Given the description of an element on the screen output the (x, y) to click on. 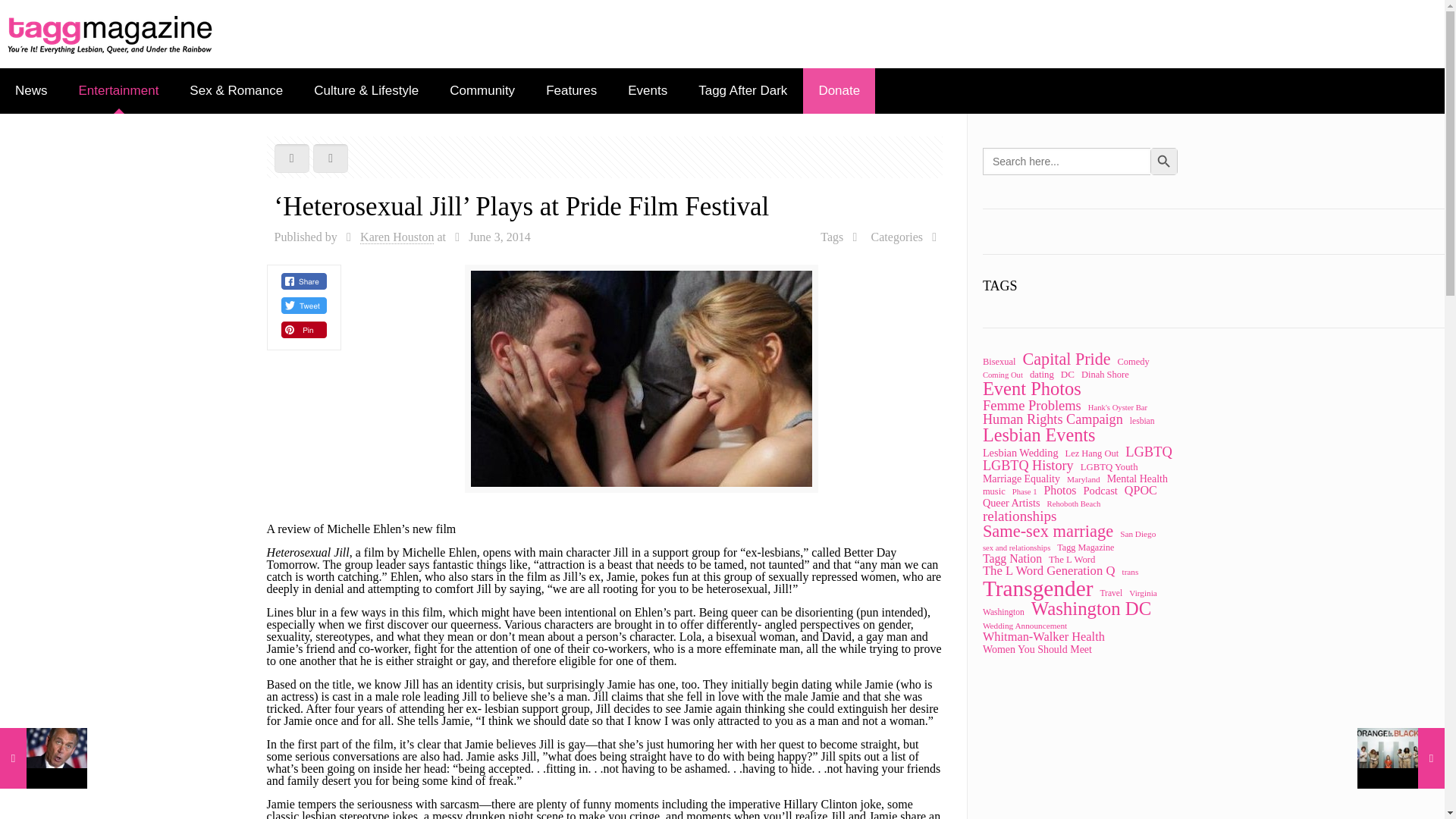
Donate (839, 90)
Tagg Magazine (110, 33)
Community (482, 90)
Entertainment (119, 90)
Posts by Karen Houston (396, 237)
Features (571, 90)
News (32, 90)
Tagg After Dark (742, 90)
Events (647, 90)
